Given the description of an element on the screen output the (x, y) to click on. 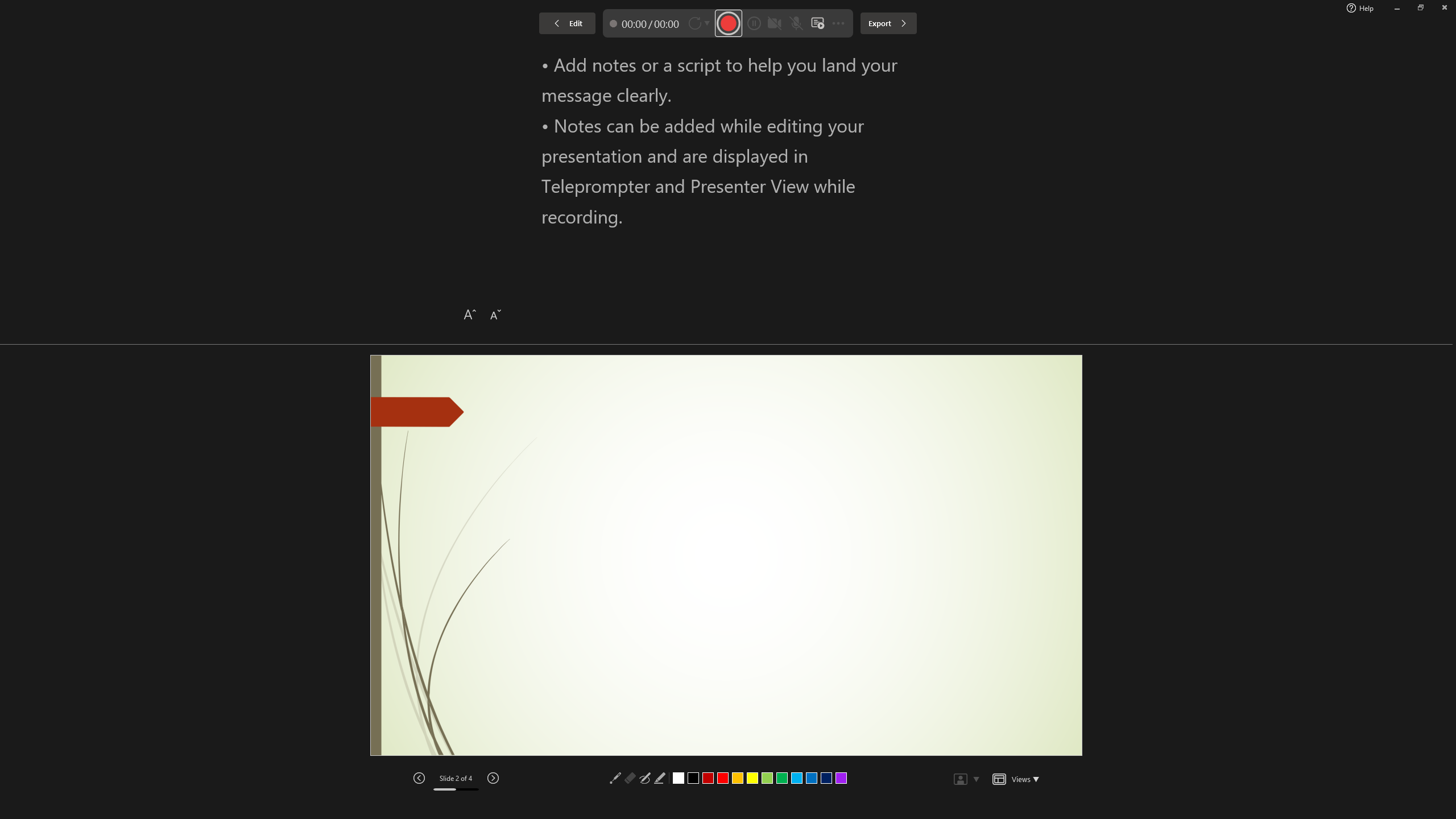
Insert an Icon (945, 461)
Insert Cameo (904, 482)
Title TextBox (935, 220)
